Given the description of an element on the screen output the (x, y) to click on. 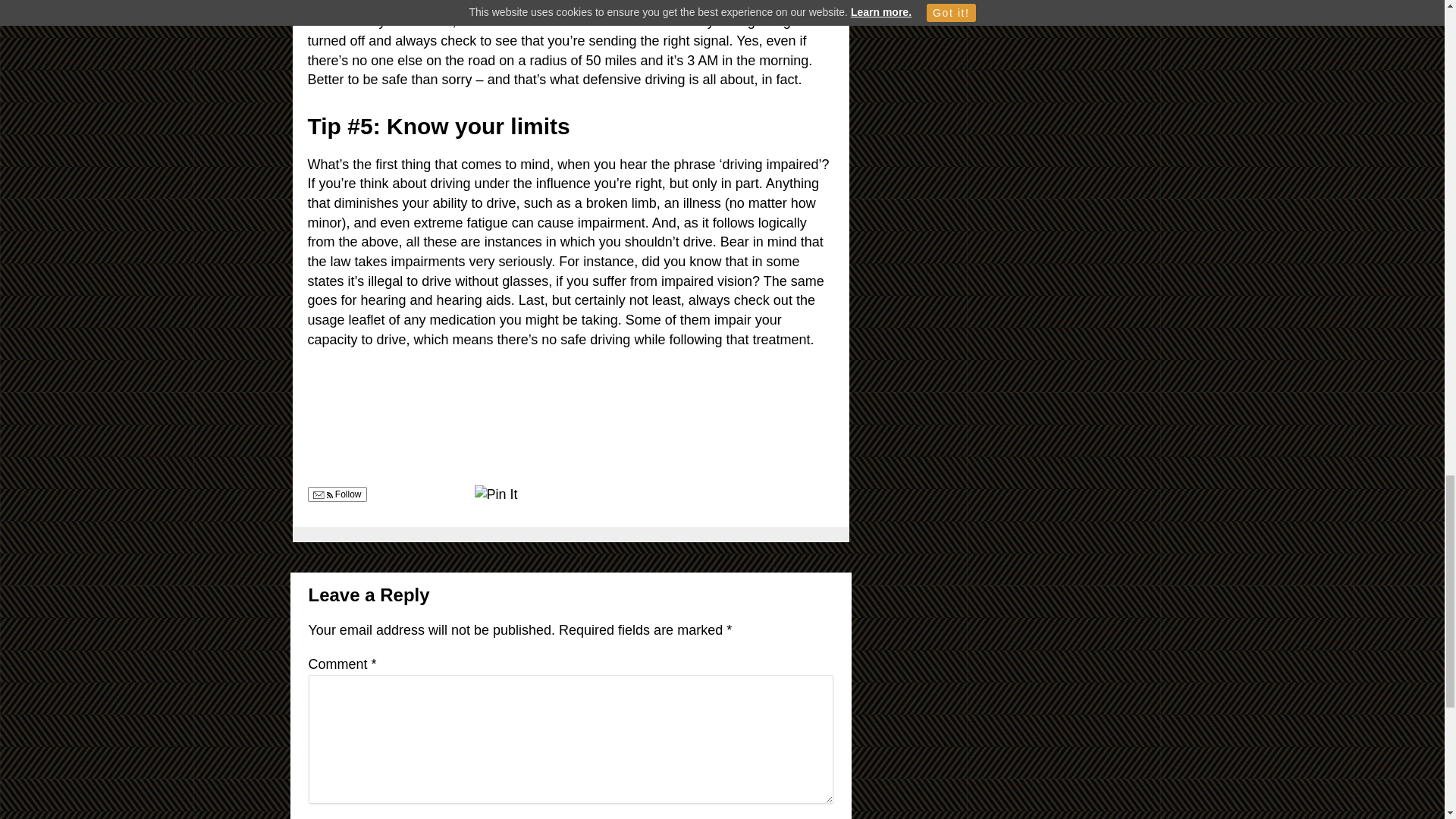
Follow (336, 494)
Email, RSS (322, 496)
